Given the description of an element on the screen output the (x, y) to click on. 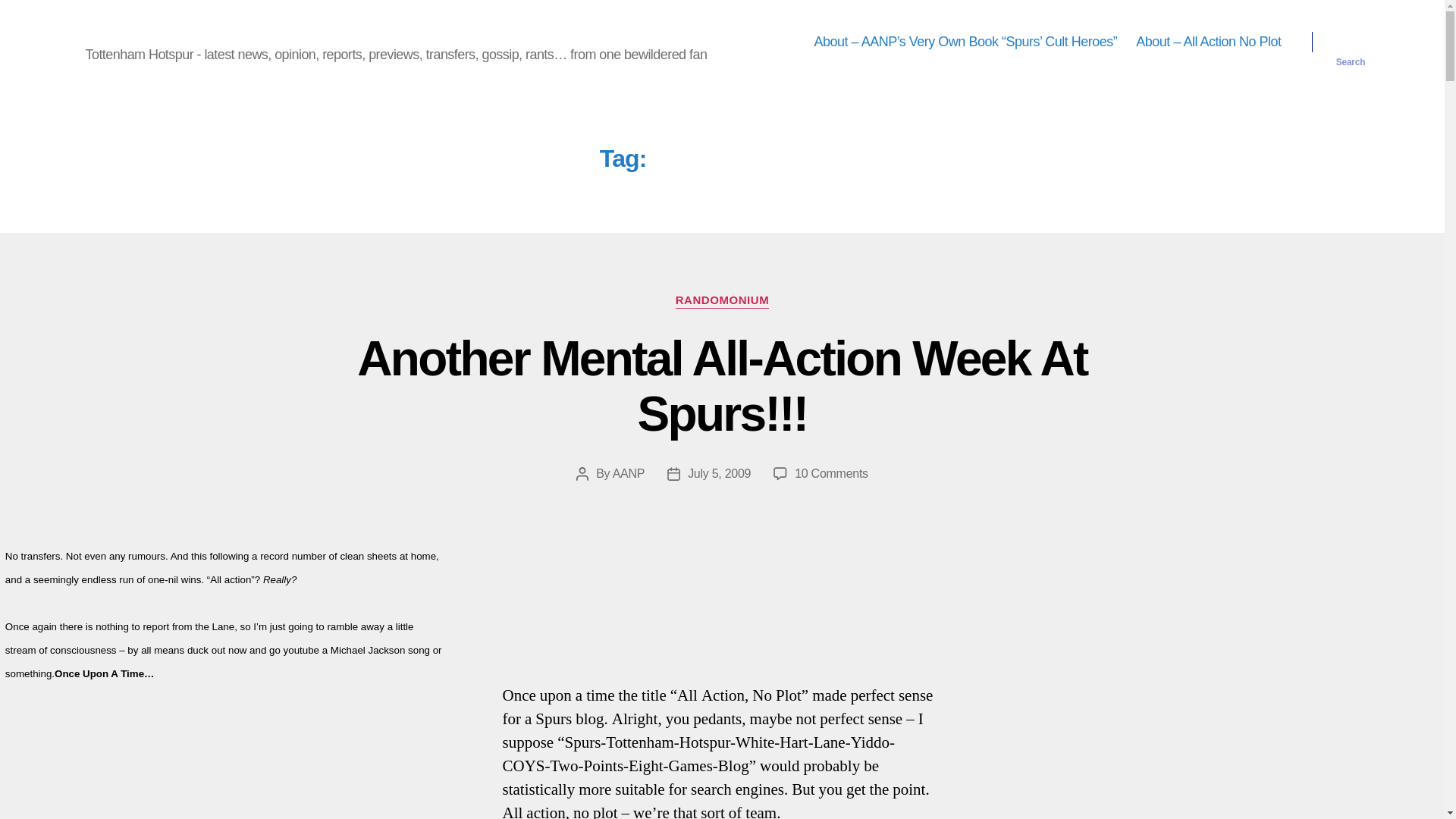
RANDOMONIUM (722, 300)
Another Mental All-Action Week At Spurs!!! (721, 386)
AANP (628, 472)
Search (1350, 41)
July 5, 2009 (719, 472)
All Action, No Plot (830, 472)
